Given the description of an element on the screen output the (x, y) to click on. 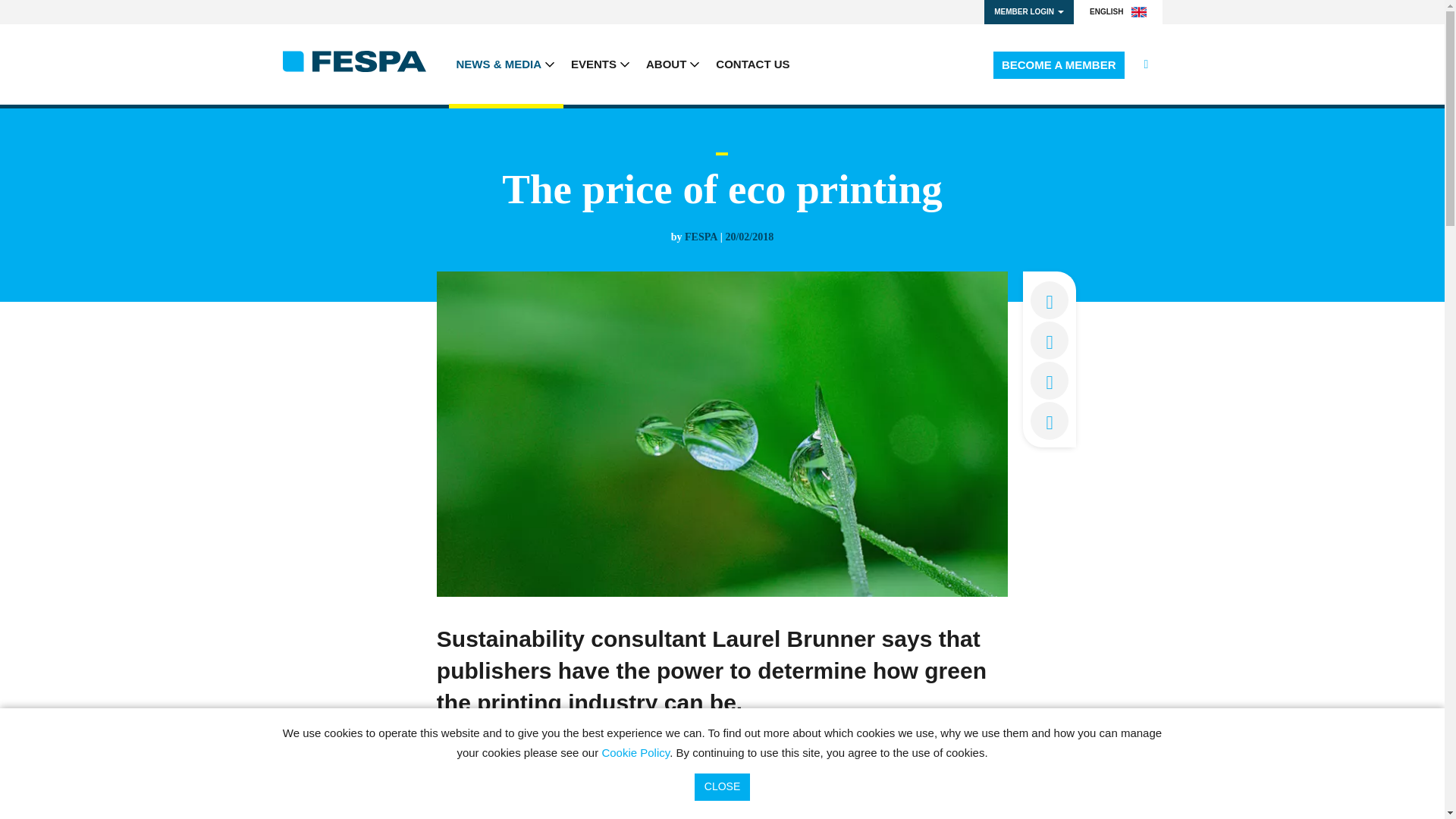
ABOUT (673, 63)
ENGLISH (1117, 12)
MEMBER LOGIN (1029, 12)
EVENTS (601, 63)
